Given the description of an element on the screen output the (x, y) to click on. 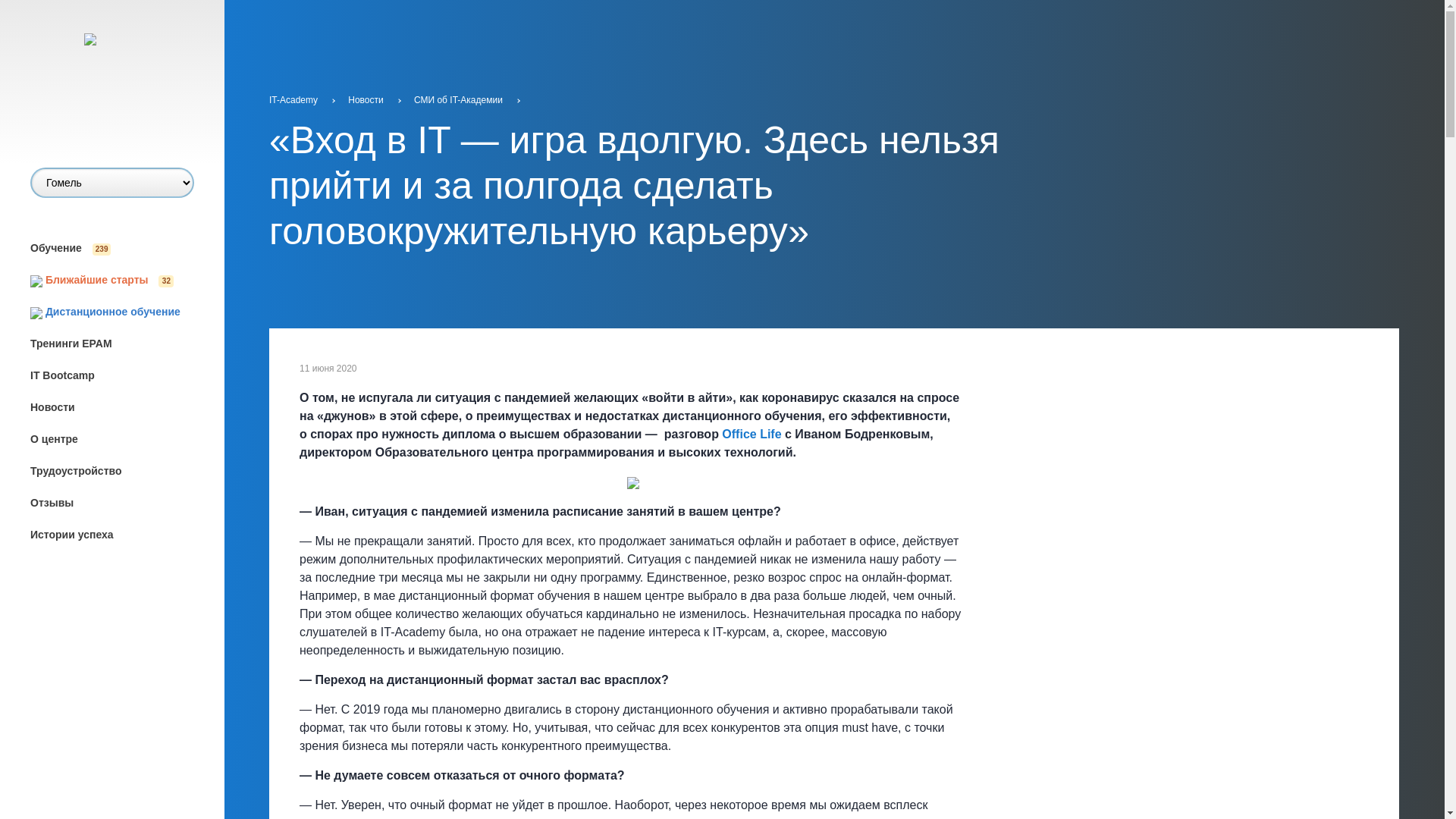
IT Bootcamp Element type: text (127, 375)
Office Life Element type: text (751, 433)
IT-Academy Element type: text (294, 99)
